Given the description of an element on the screen output the (x, y) to click on. 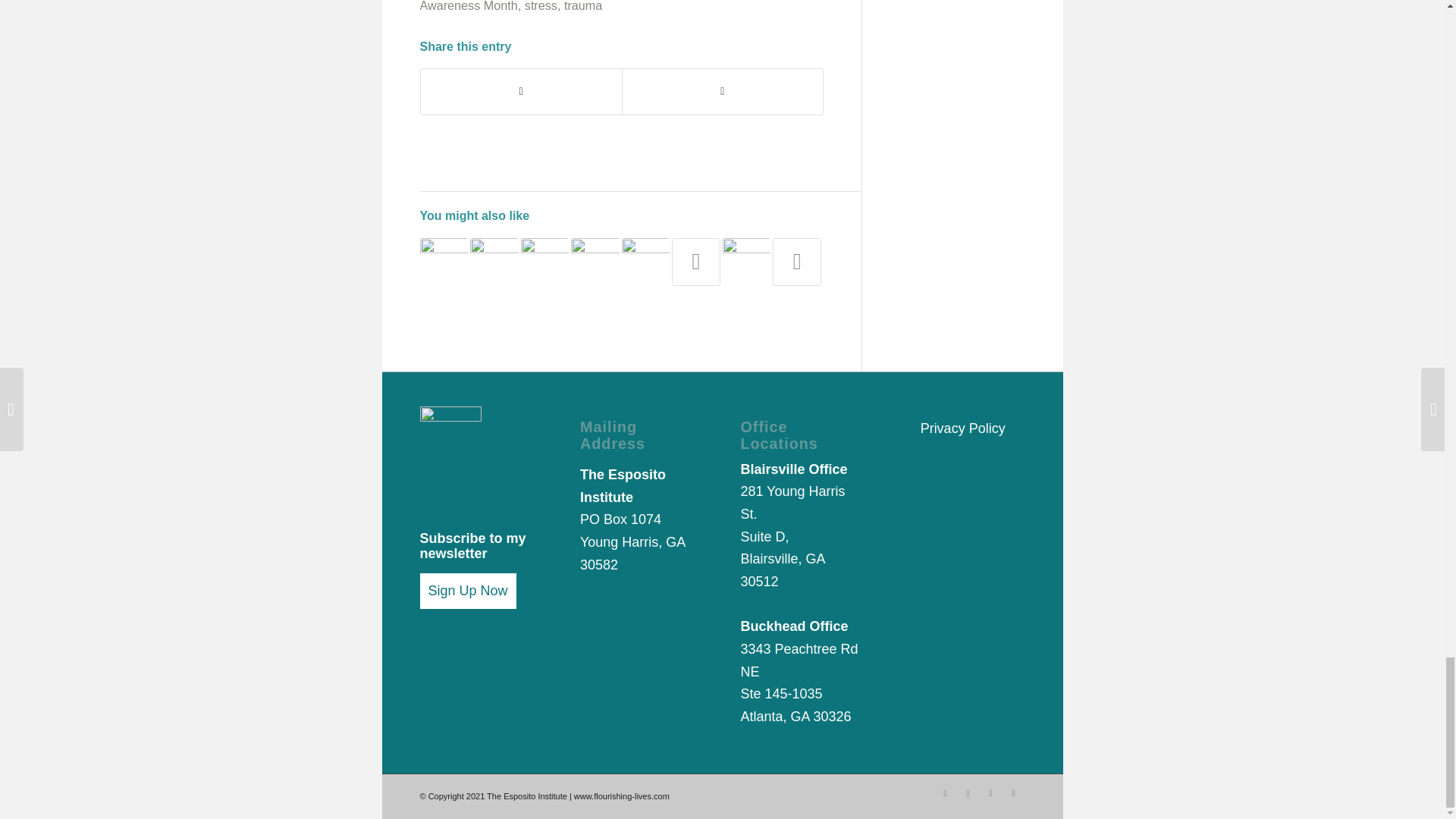
Why Breathwork Creates Rapid Changes (545, 262)
